Given the description of an element on the screen output the (x, y) to click on. 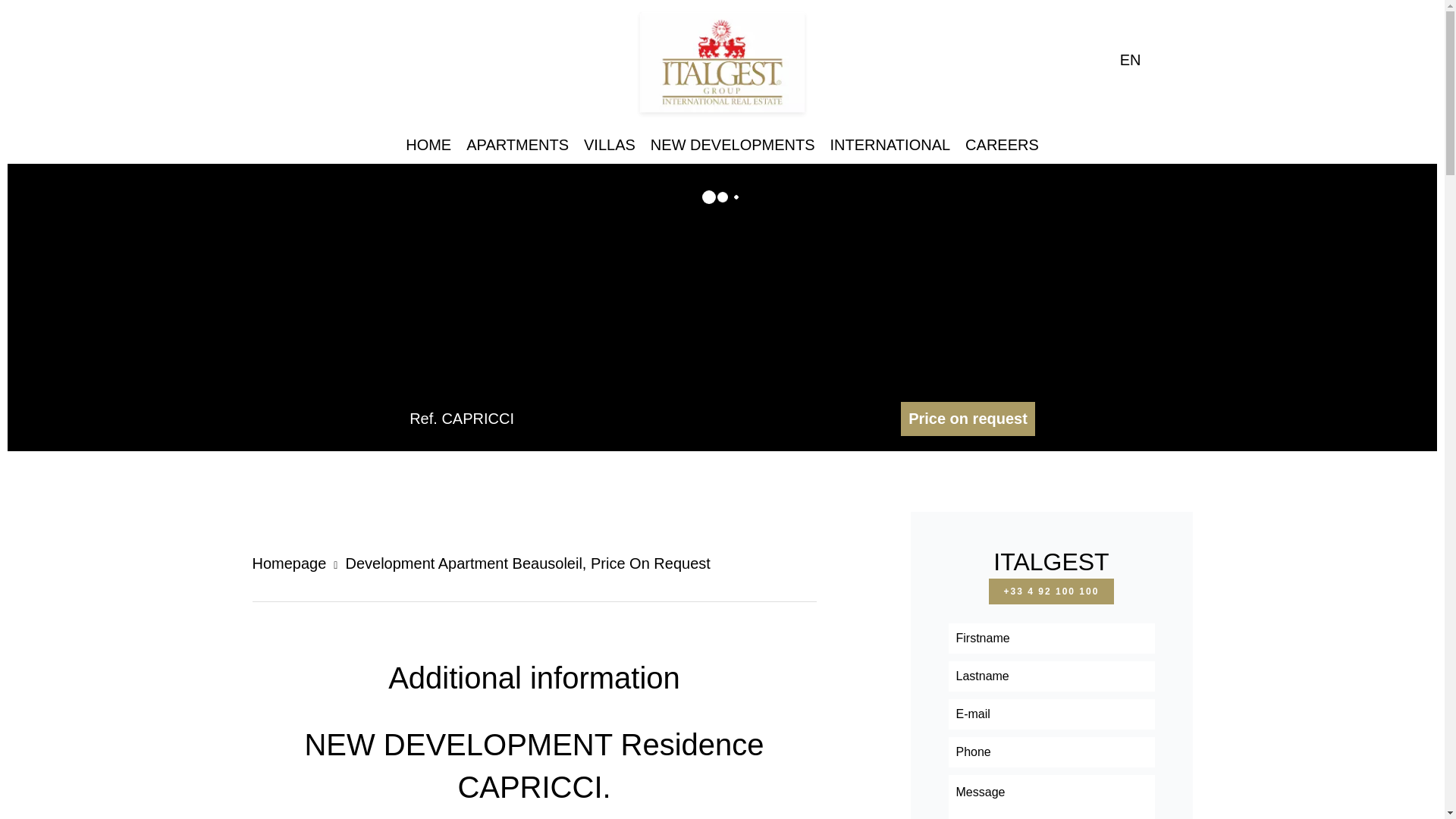
Development Apartment Beausoleil, Price On Request (527, 563)
NEW DEVELOPMENTS (732, 144)
INTERNATIONAL (889, 144)
HOME (428, 144)
APARTMENTS (517, 144)
en (1141, 59)
Homepage (288, 563)
VILLAS (608, 144)
CAREERS (1002, 144)
